Given the description of an element on the screen output the (x, y) to click on. 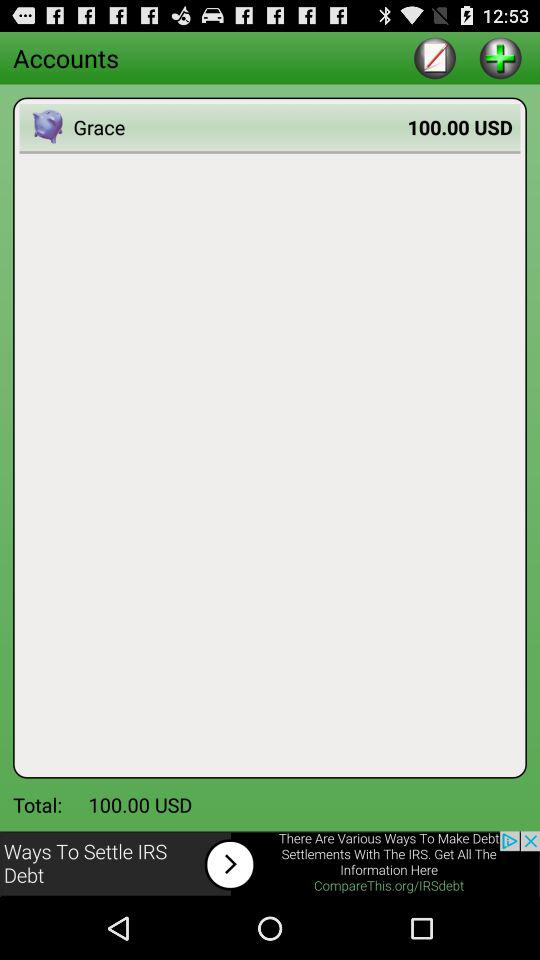
edit text (434, 57)
